Given the description of an element on the screen output the (x, y) to click on. 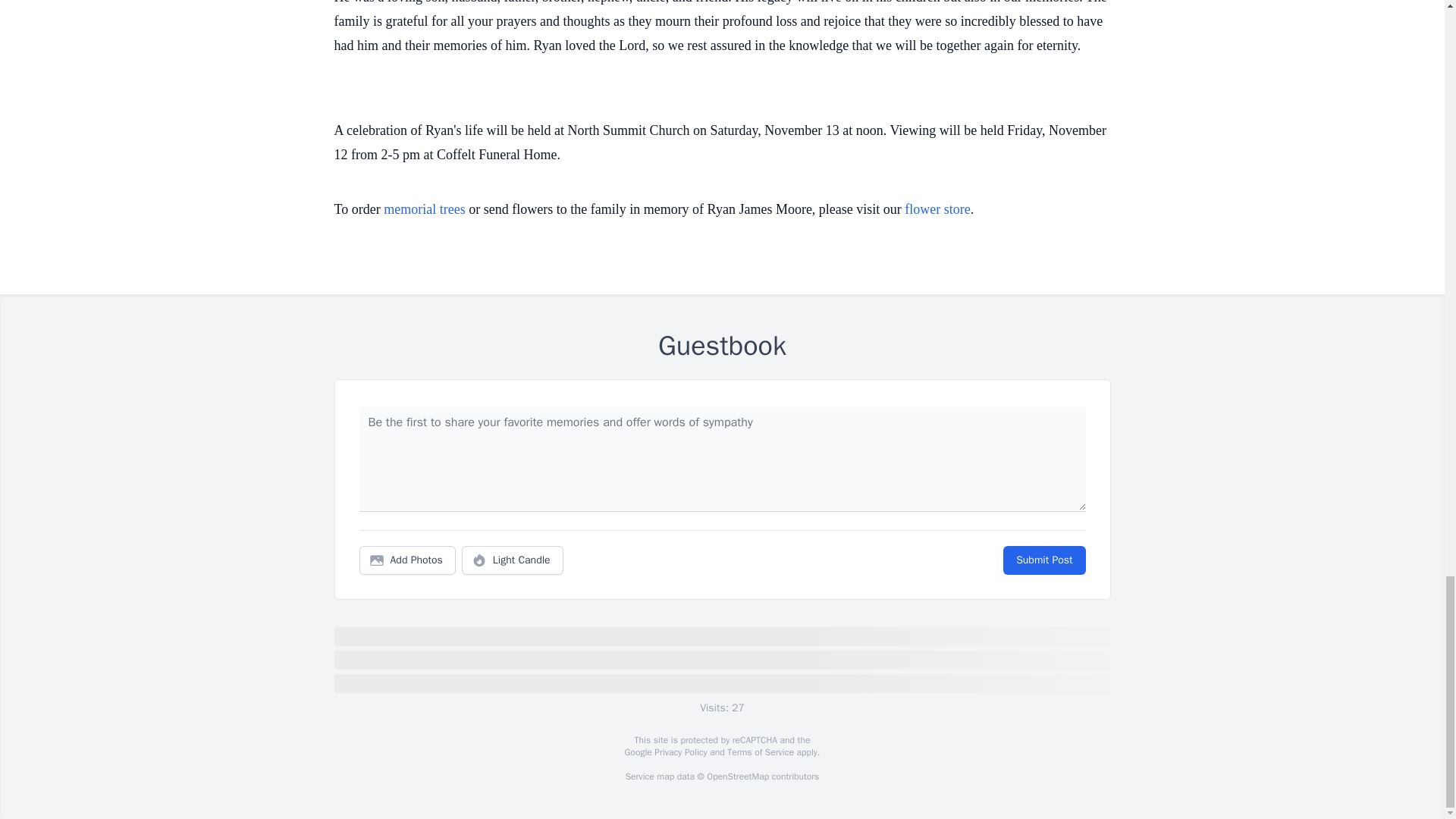
Terms of Service (759, 752)
Add Photos (407, 560)
flower store (936, 209)
Submit Post (1043, 560)
OpenStreetMap (737, 776)
memorial trees (424, 209)
Light Candle (512, 560)
Privacy Policy (679, 752)
